Given the description of an element on the screen output the (x, y) to click on. 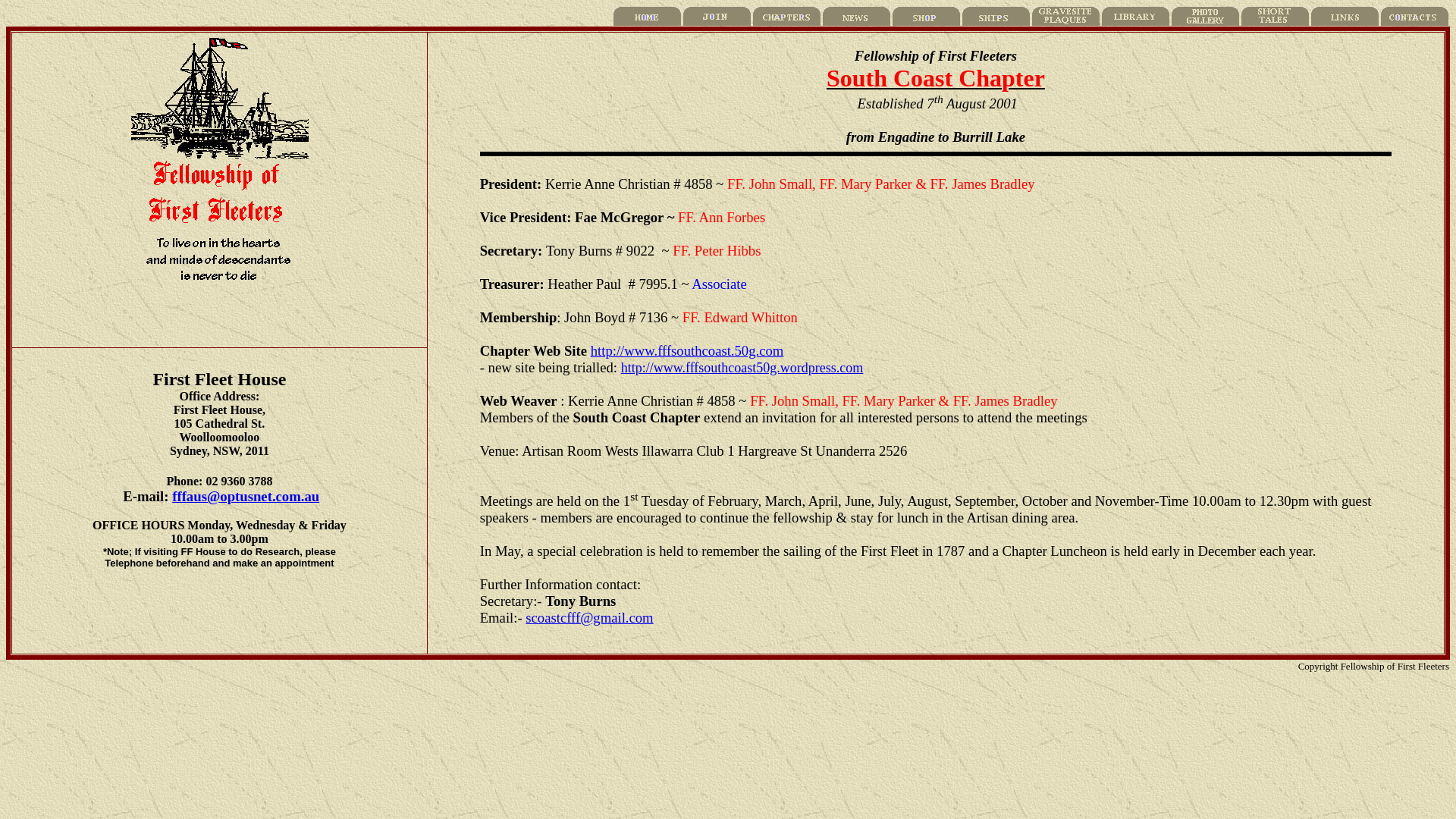
fffaus@optusnet.com.au Element type: text (245, 496)
scoastcfff@gmail.com Element type: text (588, 617)
http://www.fffsouthcoast50g.wordpress.com Element type: text (742, 367)
http://www.fffsouthcoast.50g.com Element type: text (687, 350)
